Given the description of an element on the screen output the (x, y) to click on. 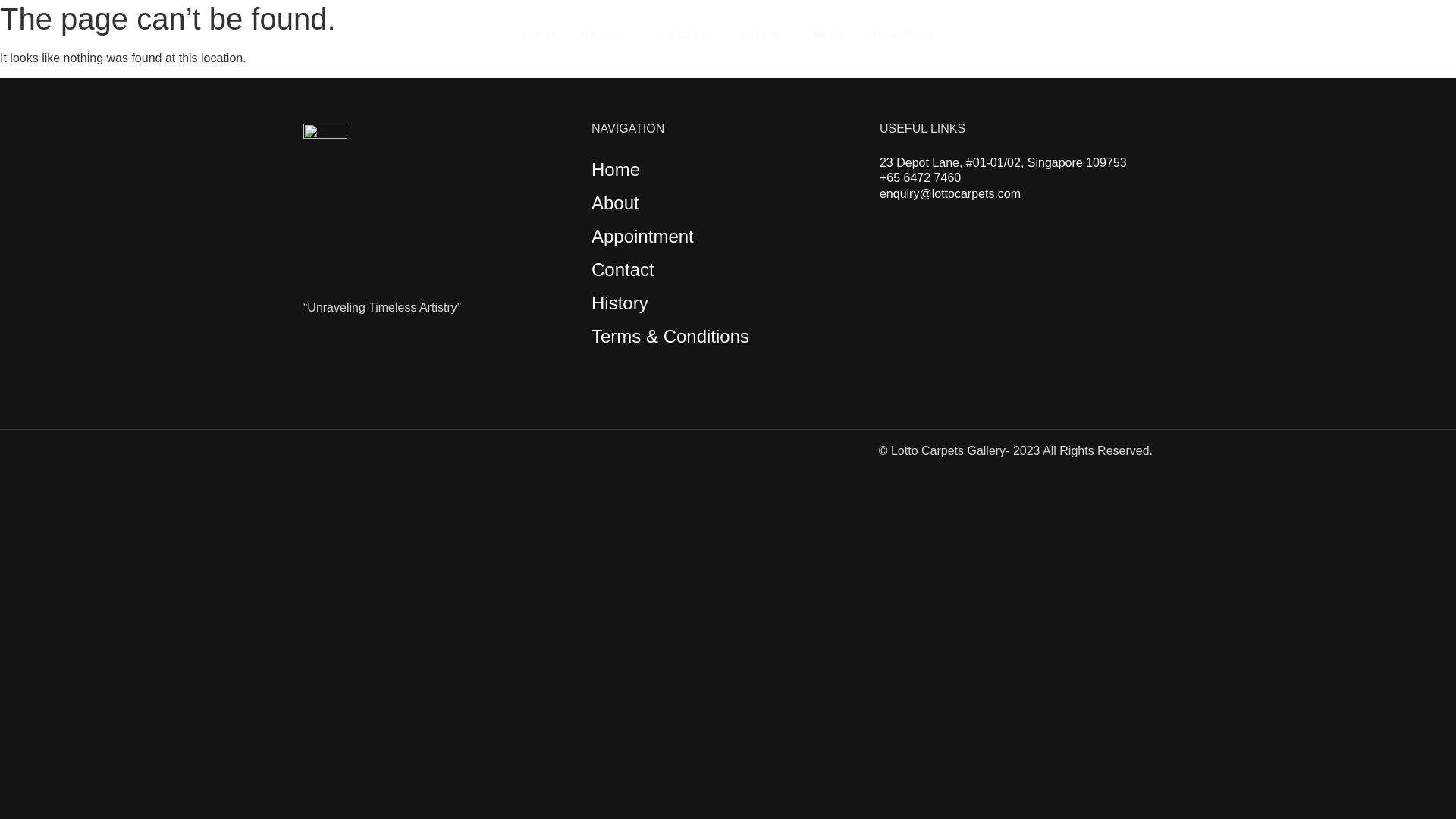
Home (615, 168)
Contact us (685, 34)
About us (604, 34)
About (615, 202)
Contact (622, 269)
Services (759, 34)
Home (538, 34)
Appointment (898, 34)
Appointment (642, 236)
Clients (823, 34)
